Given the description of an element on the screen output the (x, y) to click on. 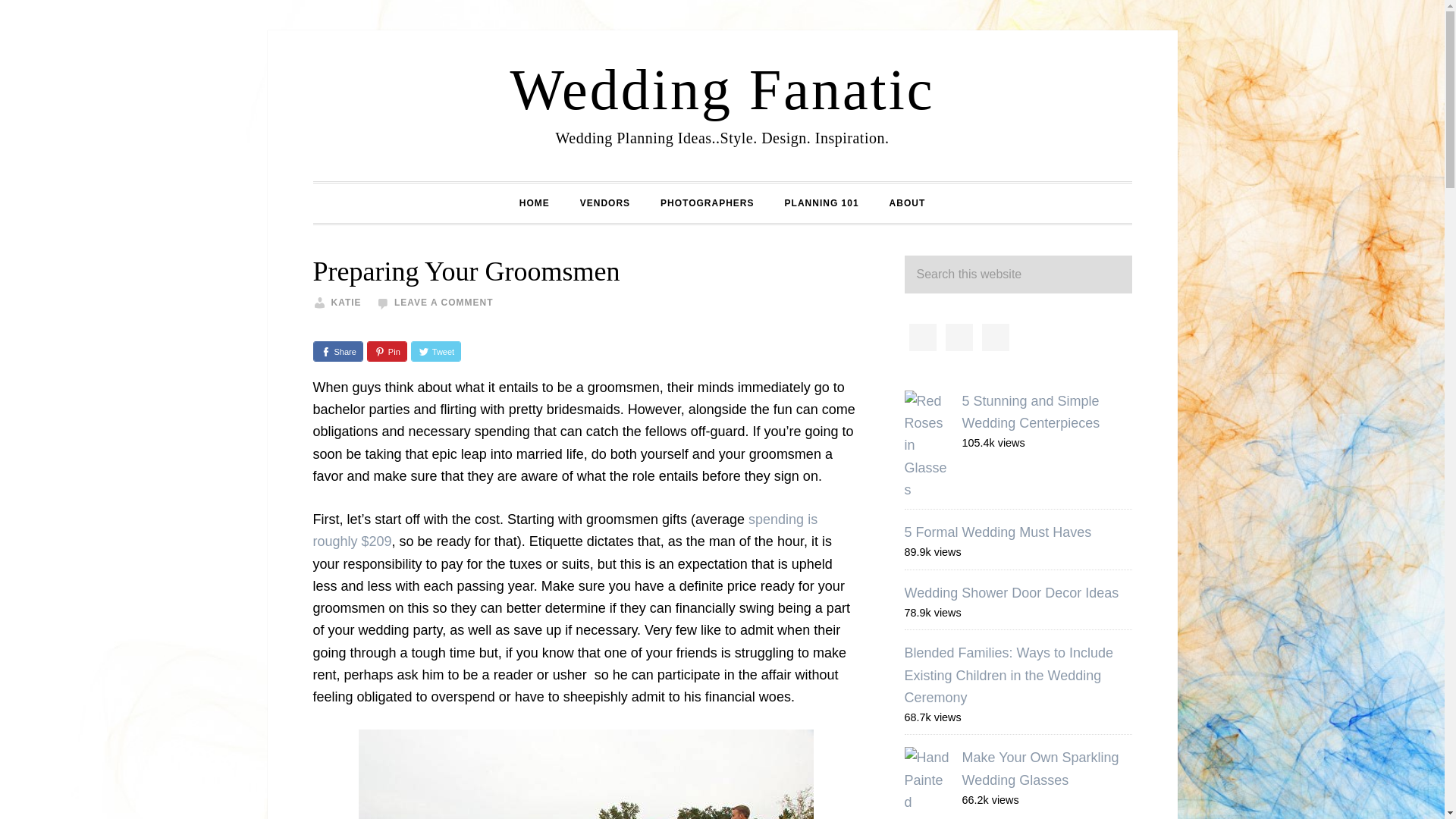
KATIE (345, 302)
Preparing Your Groomsmen Photo (585, 774)
Pin (386, 351)
PHOTOGRAPHERS (706, 202)
Wedding Fanatic (721, 89)
LEAVE A COMMENT (443, 302)
PLANNING 101 (822, 202)
ABOUT (907, 202)
HOME (533, 202)
Share (337, 351)
VENDORS (604, 202)
Tweet (435, 351)
